Given the description of an element on the screen output the (x, y) to click on. 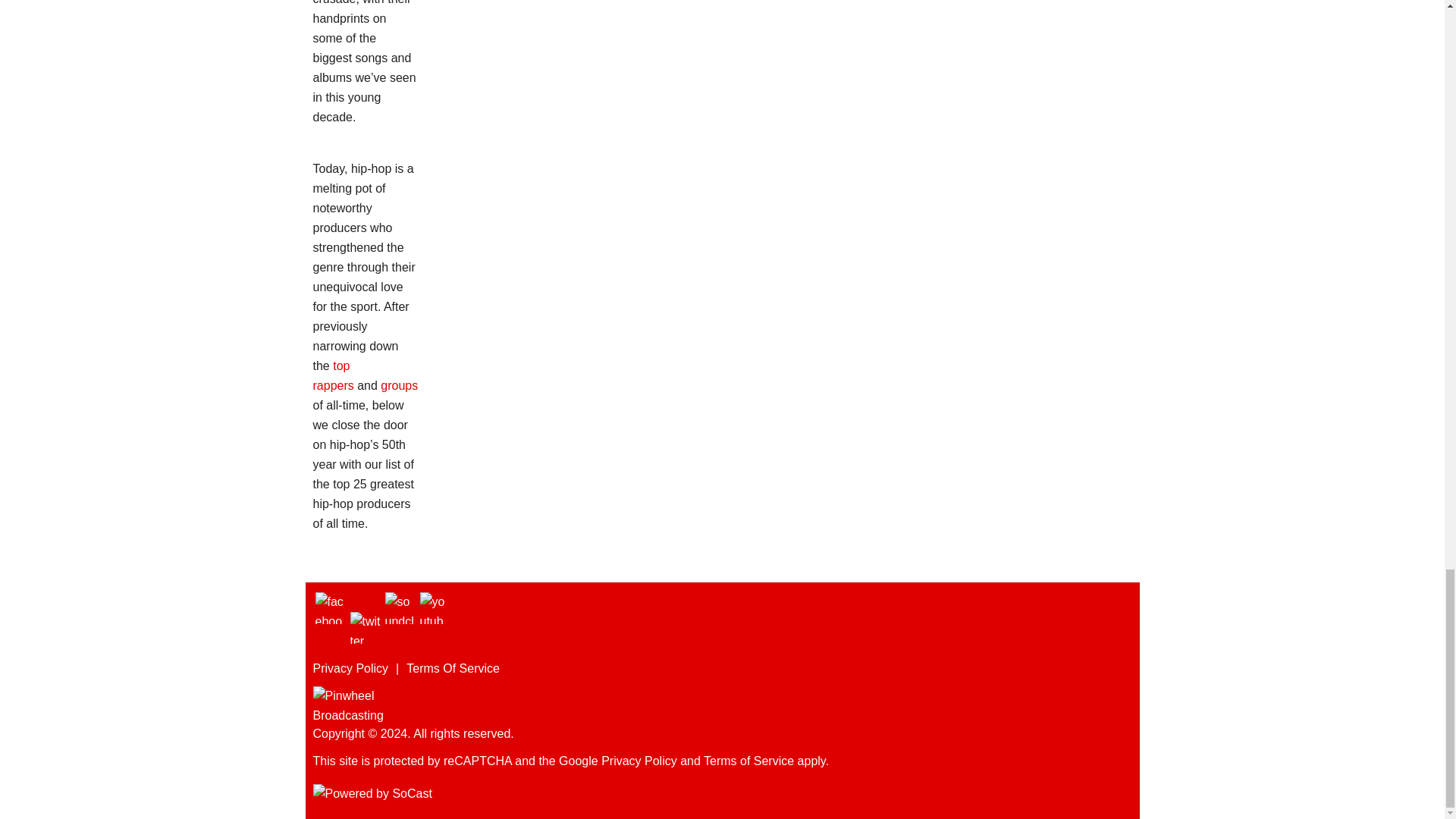
groups (398, 385)
top rappers (333, 375)
